Given the description of an element on the screen output the (x, y) to click on. 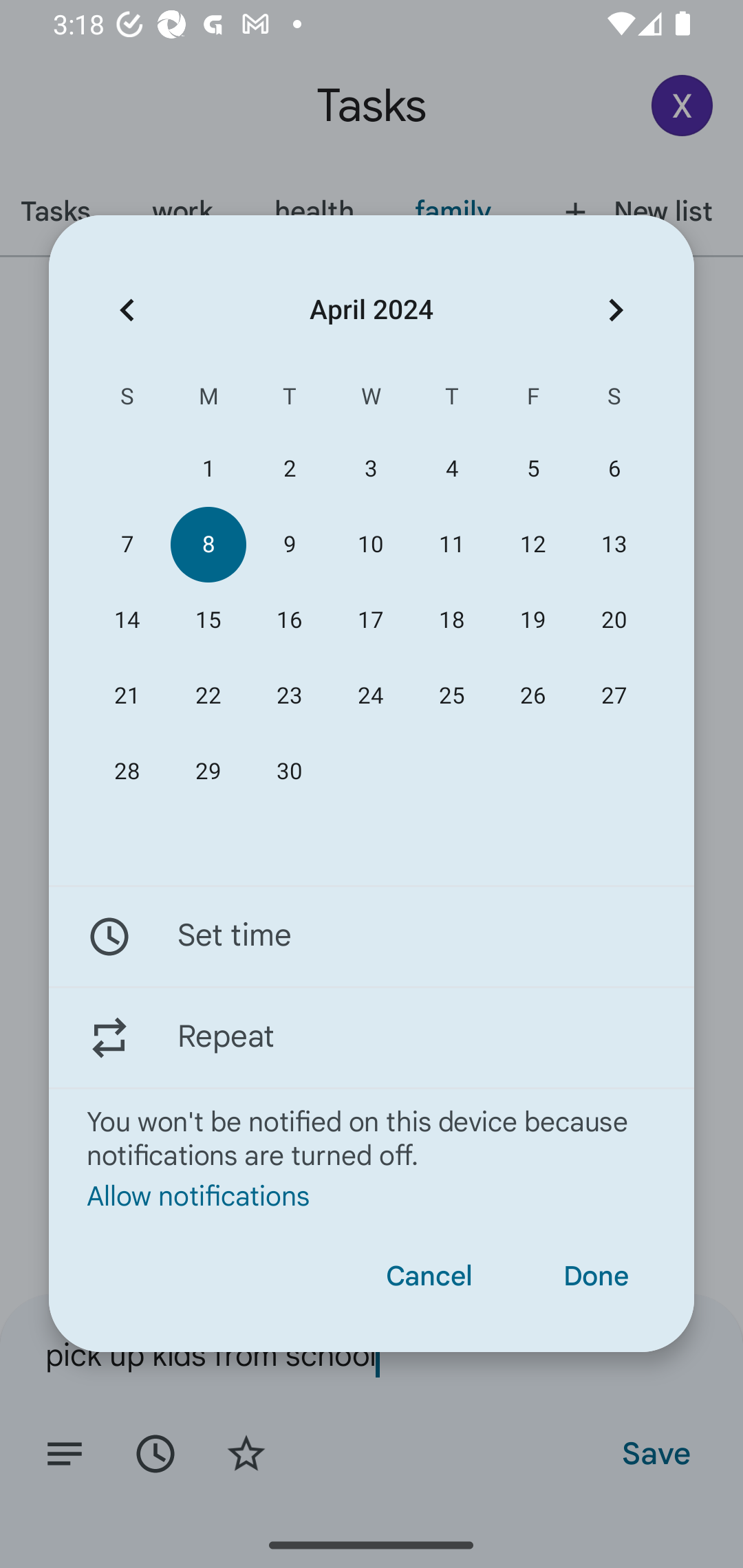
Previous month (126, 309)
Next month (615, 309)
1 01 April 2024 (207, 468)
2 02 April 2024 (288, 468)
3 03 April 2024 (370, 468)
4 04 April 2024 (451, 468)
5 05 April 2024 (532, 468)
6 06 April 2024 (613, 468)
7 07 April 2024 (126, 543)
8 08 April 2024 (207, 543)
9 09 April 2024 (288, 543)
10 10 April 2024 (370, 543)
11 11 April 2024 (451, 543)
12 12 April 2024 (532, 543)
13 13 April 2024 (613, 543)
14 14 April 2024 (126, 619)
15 15 April 2024 (207, 619)
16 16 April 2024 (288, 619)
17 17 April 2024 (370, 619)
18 18 April 2024 (451, 619)
19 19 April 2024 (532, 619)
20 20 April 2024 (613, 619)
21 21 April 2024 (126, 695)
22 22 April 2024 (207, 695)
23 23 April 2024 (288, 695)
24 24 April 2024 (370, 695)
25 25 April 2024 (451, 695)
26 26 April 2024 (532, 695)
27 27 April 2024 (613, 695)
28 28 April 2024 (126, 771)
29 29 April 2024 (207, 771)
30 30 April 2024 (288, 771)
Set time (371, 936)
Repeat (371, 1036)
Allow notifications (371, 1195)
Cancel (429, 1275)
Done (595, 1275)
